Given the description of an element on the screen output the (x, y) to click on. 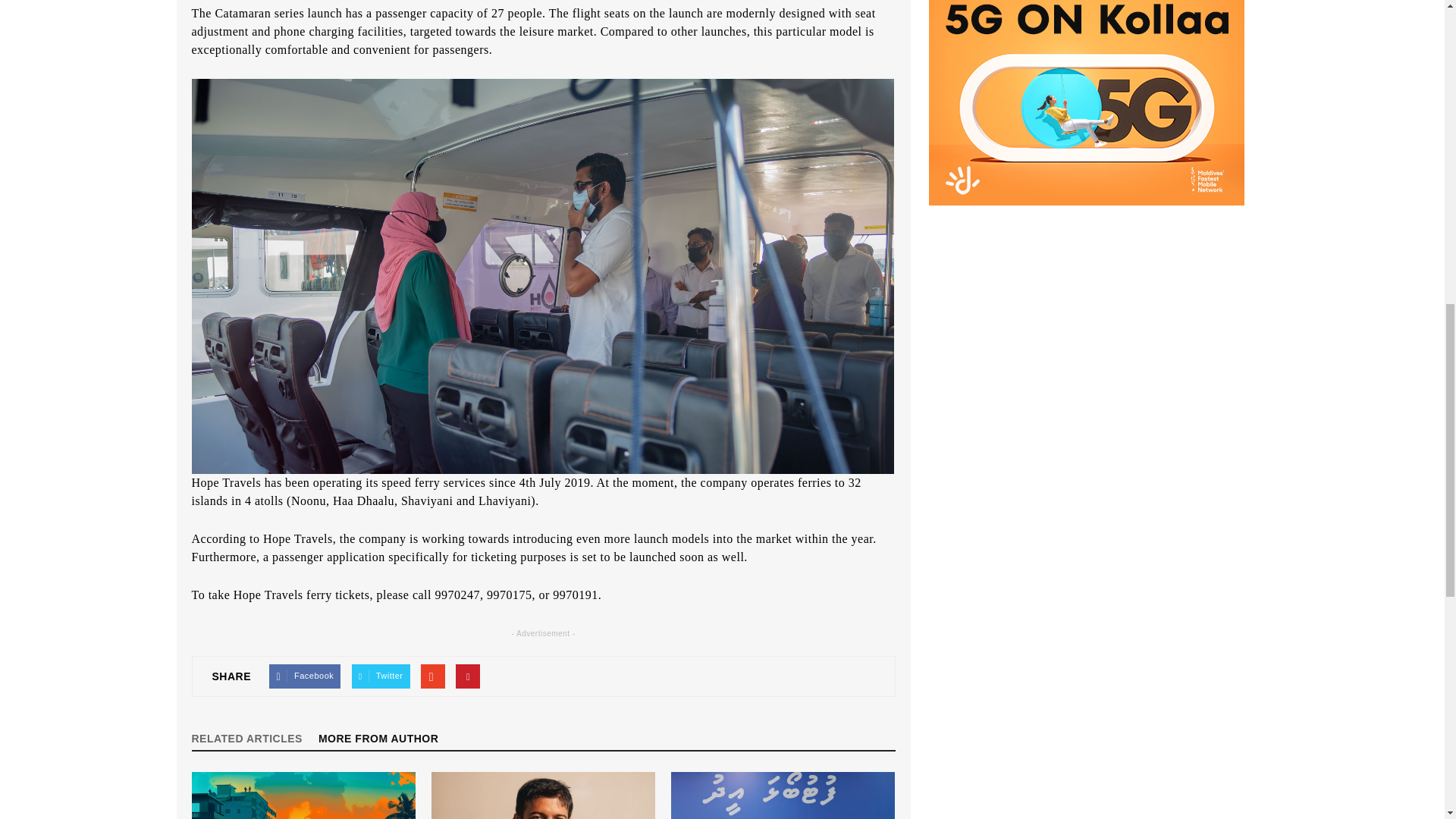
Report: Unravelling the Economic Fragility of the Maldives (302, 795)
Twitter (381, 676)
Facebook (304, 676)
Shiuree Appointed as New Managing Director of MMPRC (542, 795)
